Given the description of an element on the screen output the (x, y) to click on. 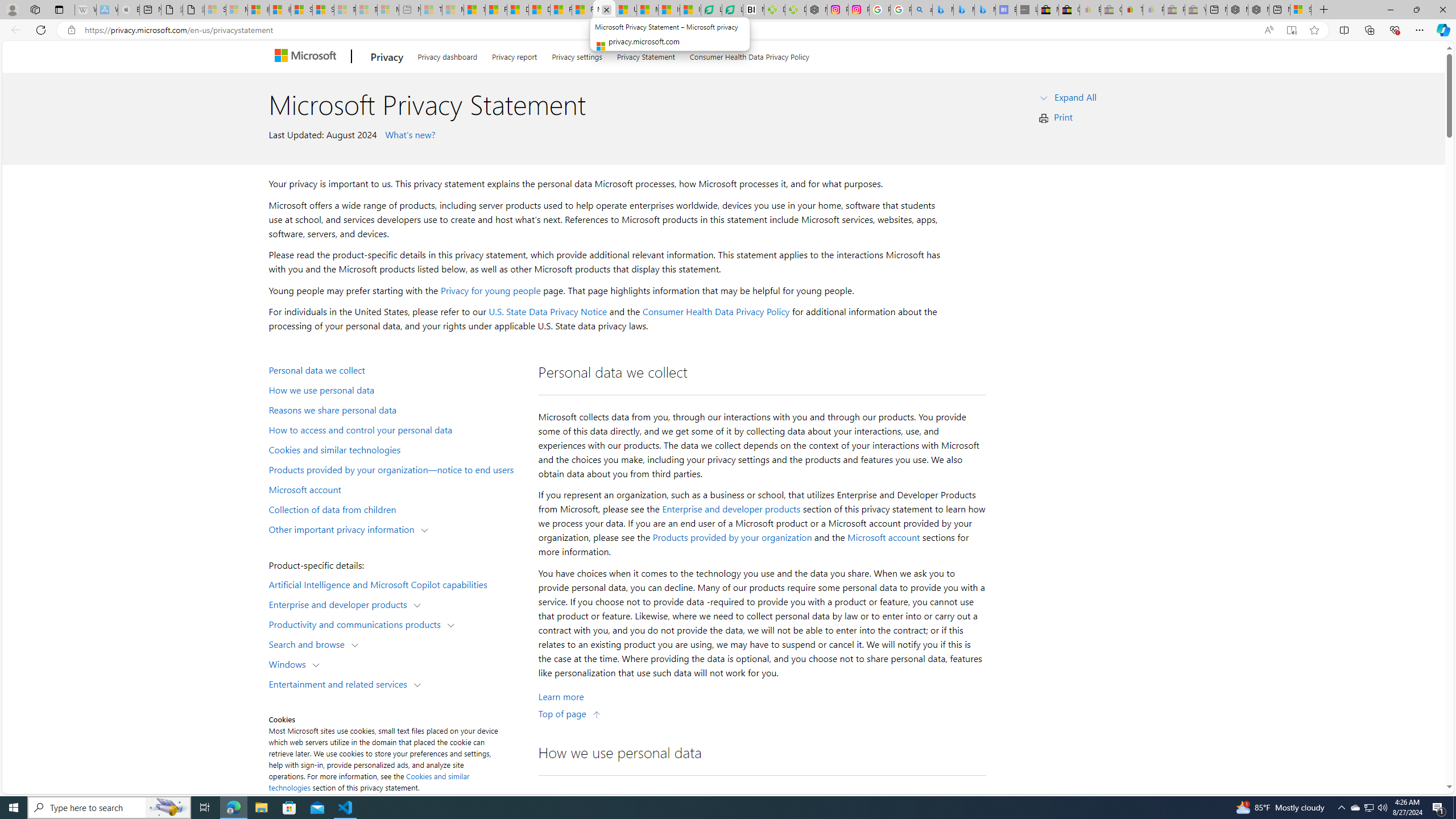
Microsoft account (395, 488)
Productivity and communications products (356, 623)
Expand All (1075, 96)
Entertainment and related services (340, 683)
 What's new? (408, 133)
Yard, Garden & Outdoor Living - Sleeping (1195, 9)
